Given the description of an element on the screen output the (x, y) to click on. 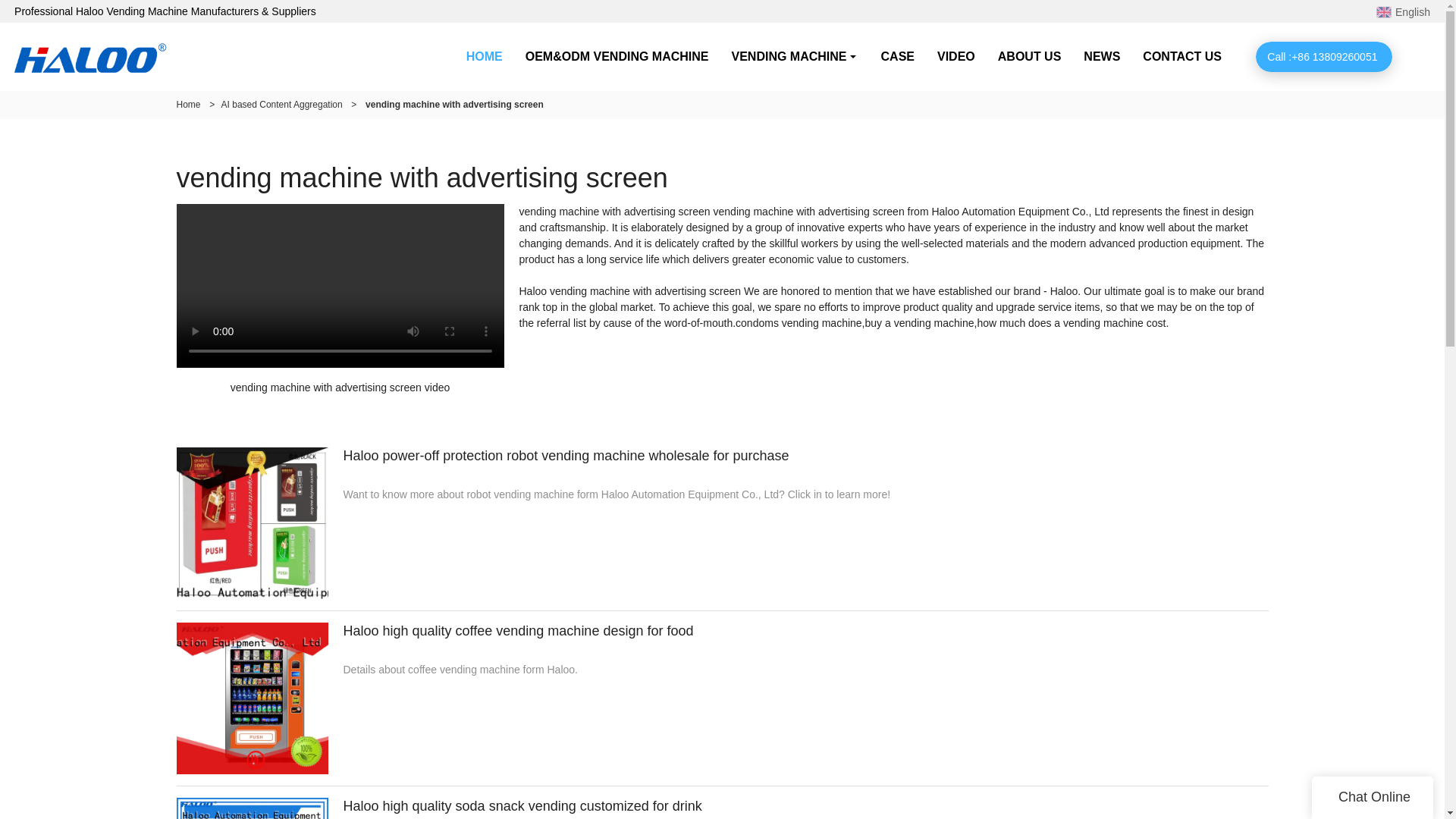
AI based Content Aggregation (281, 104)
Home (188, 104)
VENDING MACHINE (794, 56)
CONTACT US (1182, 56)
ABOUT US (1030, 56)
